Given the description of an element on the screen output the (x, y) to click on. 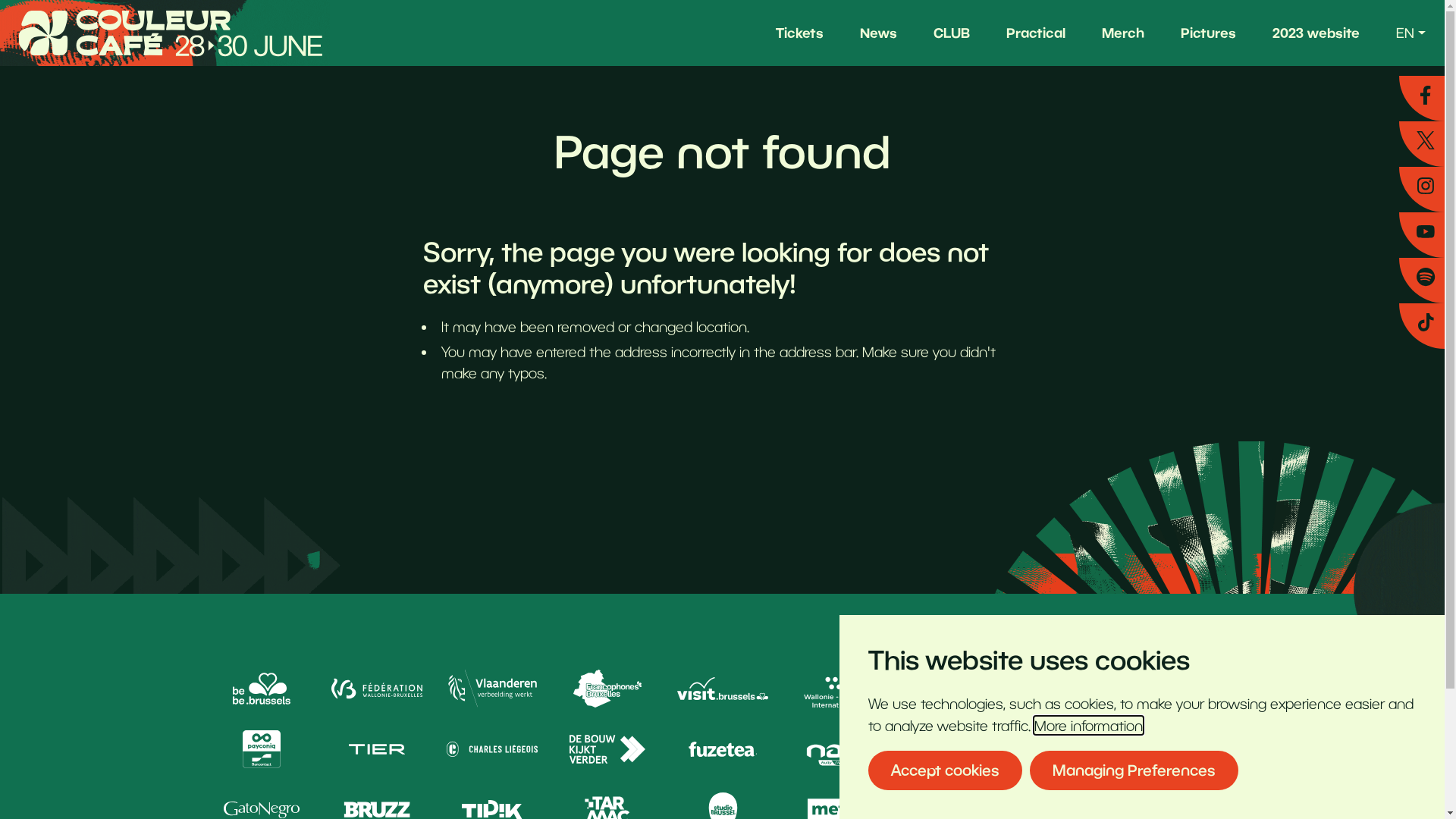
Fuze Tea Element type: hover (721, 749)
Spotify Element type: hover (1421, 280)
Facebook Element type: hover (1421, 98)
Stad Brussel Element type: hover (951, 688)
Accept cookies Element type: text (945, 770)
Visit Brussels Element type: hover (721, 688)
Francophones Bruxelles Element type: hover (606, 688)
Win For Life Element type: hover (1182, 688)
WBI Element type: hover (836, 688)
be.brussels Element type: hover (260, 688)
More information Element type: text (1088, 724)
TikTok Element type: hover (1421, 325)
2023 website Element type: text (1315, 32)
News Element type: text (878, 32)
Youtube Element type: hover (1421, 234)
Tickets Element type: text (799, 32)
Bacardi Element type: hover (1067, 749)
MIVB STIB Element type: hover (1067, 688)
Payconiq bancontact Element type: hover (260, 749)
CLUB Element type: text (951, 32)
Merch Element type: text (1122, 32)
EN Element type: text (1410, 32)
CM Element type: hover (1182, 749)
Vlaanderen - Verbeelding Werkt Element type: hover (490, 688)
Twitter Element type: hover (1421, 143)
Pictures Element type: text (1208, 32)
De bouw kijkt verder Element type: hover (606, 749)
Nalu Element type: hover (836, 749)
Managing Preferences Element type: text (1133, 770)
Cristal Element type: hover (951, 749)
Practical Element type: text (1035, 32)
Instagram Element type: hover (1421, 189)
TIER Element type: hover (375, 749)
